Given the description of an element on the screen output the (x, y) to click on. 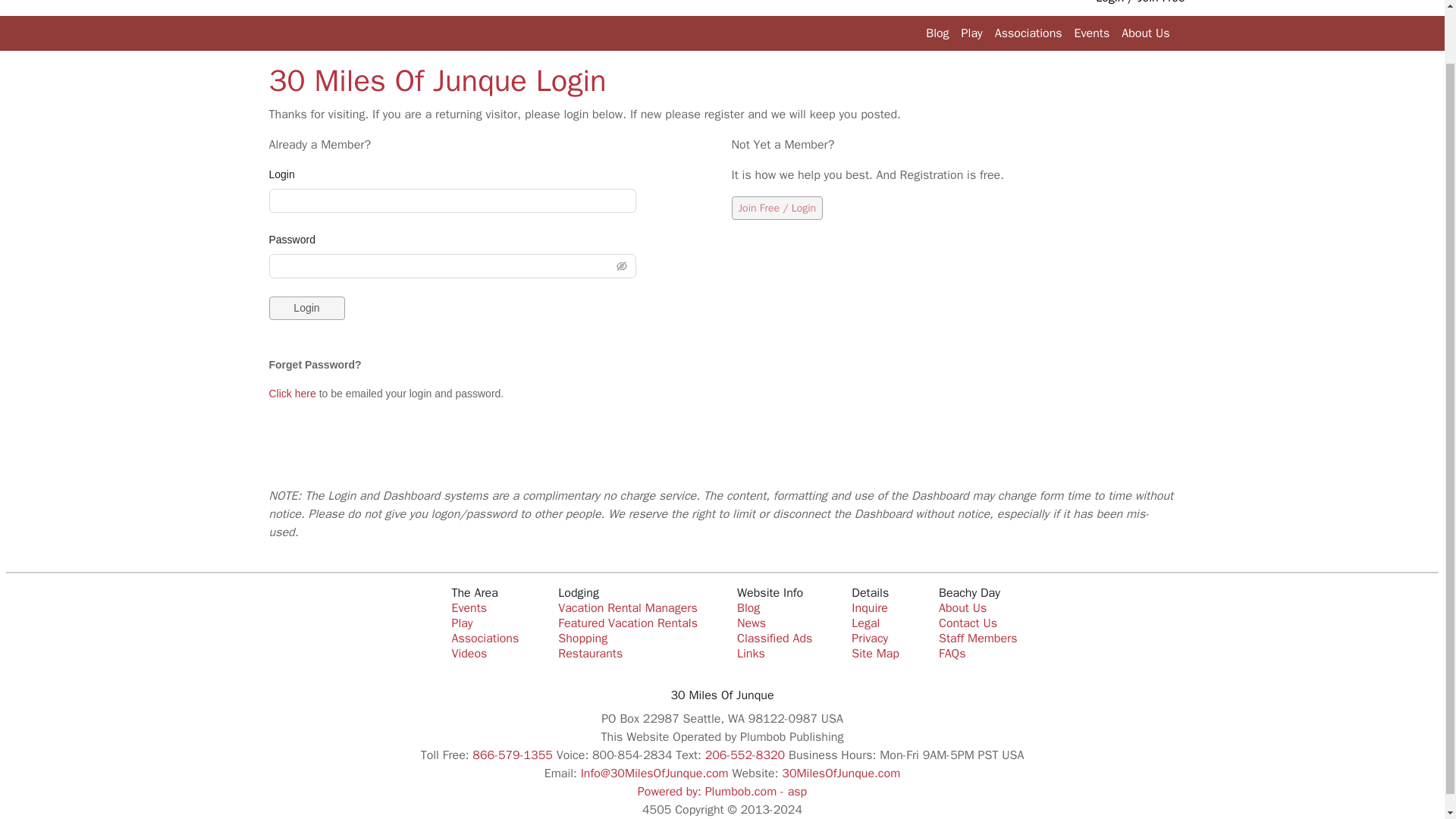
Privacy (869, 638)
Play (461, 622)
News (750, 622)
Password (295, 239)
Events (468, 607)
Vacation Rental Managers (627, 607)
Shopping (582, 638)
Play (971, 33)
Featured Vacation Rentals (627, 622)
Powered by: Plumbob.com - asp (721, 791)
Click here (291, 393)
About Us (963, 607)
Login (305, 308)
About Us (1144, 33)
Inquire (869, 607)
